Given the description of an element on the screen output the (x, y) to click on. 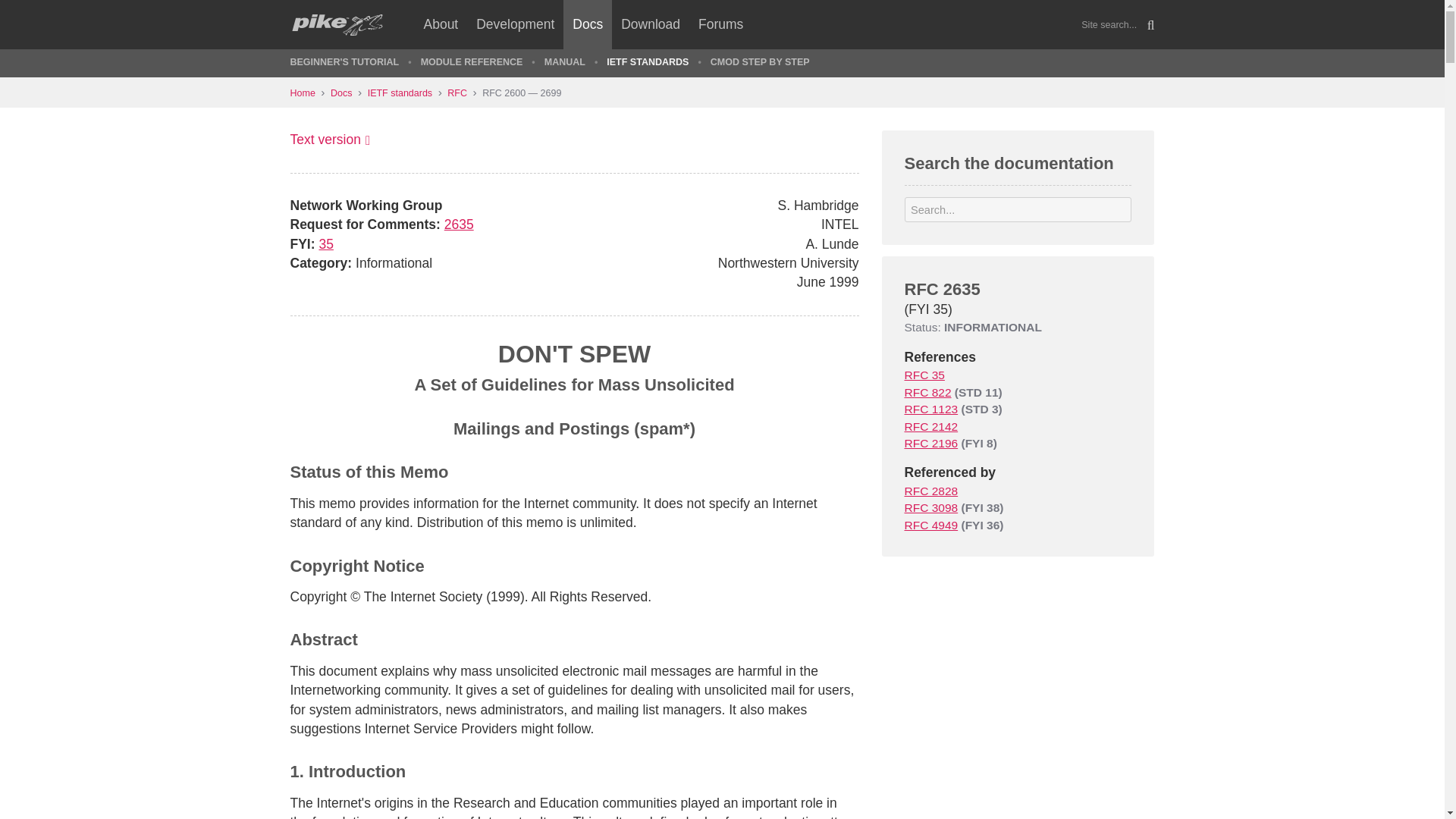
Development (515, 24)
RFC 2196 (931, 442)
MODULE REFERENCE (469, 62)
IETF standards (408, 92)
Mailbox Names for Common Services, Roles and Functions (931, 426)
STANDARD FOR THE FORMAT OF ARPA INTERNET TEXT MESSAGES (927, 391)
Text version (329, 139)
Requirements for Internet Hosts - Application and Support (931, 408)
Network Meeting (923, 374)
RFC (463, 92)
